Given the description of an element on the screen output the (x, y) to click on. 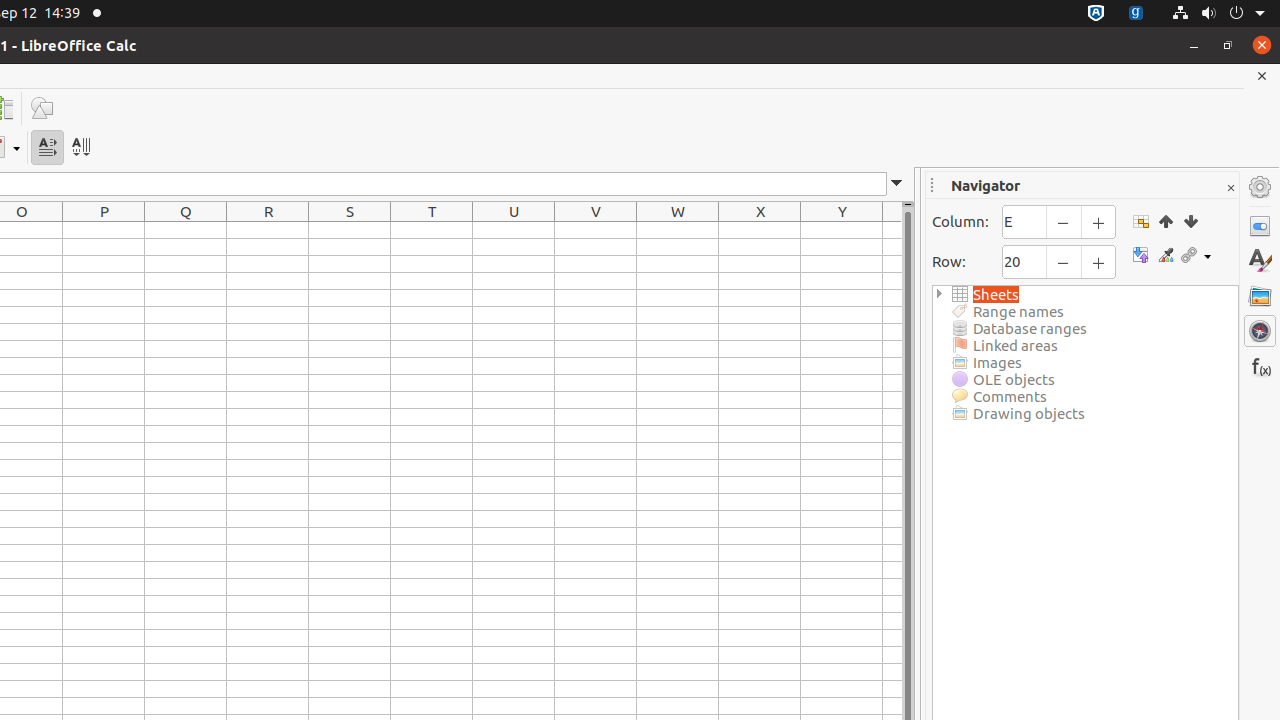
Expand Formula Bar Element type: push-button (897, 183)
P1 Element type: table-cell (104, 230)
R1 Element type: table-cell (268, 230)
Text direction from left to right Element type: toggle-button (47, 147)
:1.21/StatusNotifierItem Element type: menu (1136, 13)
